Given the description of an element on the screen output the (x, y) to click on. 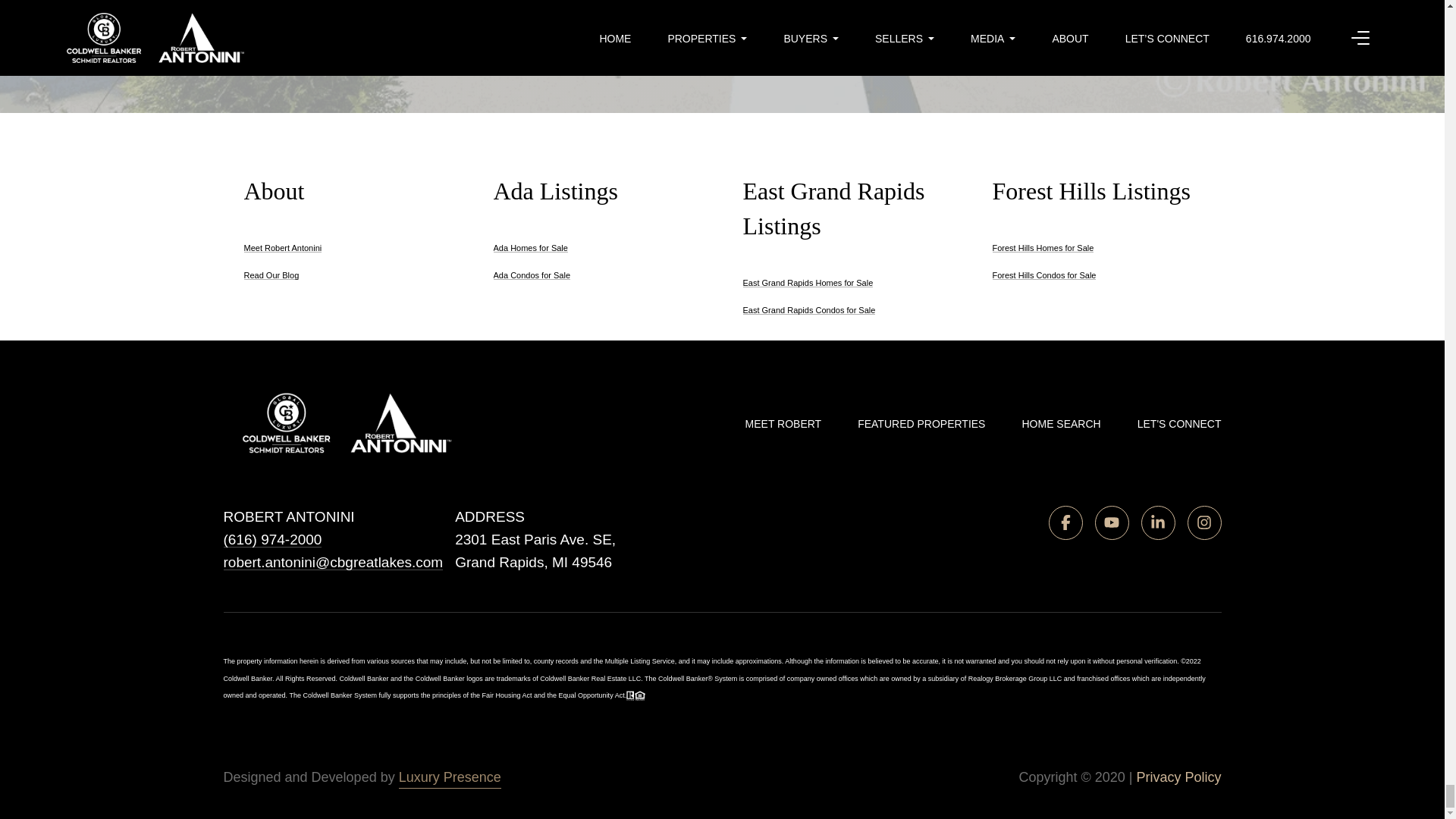
SCROLL (721, 57)
